Given the description of an element on the screen output the (x, y) to click on. 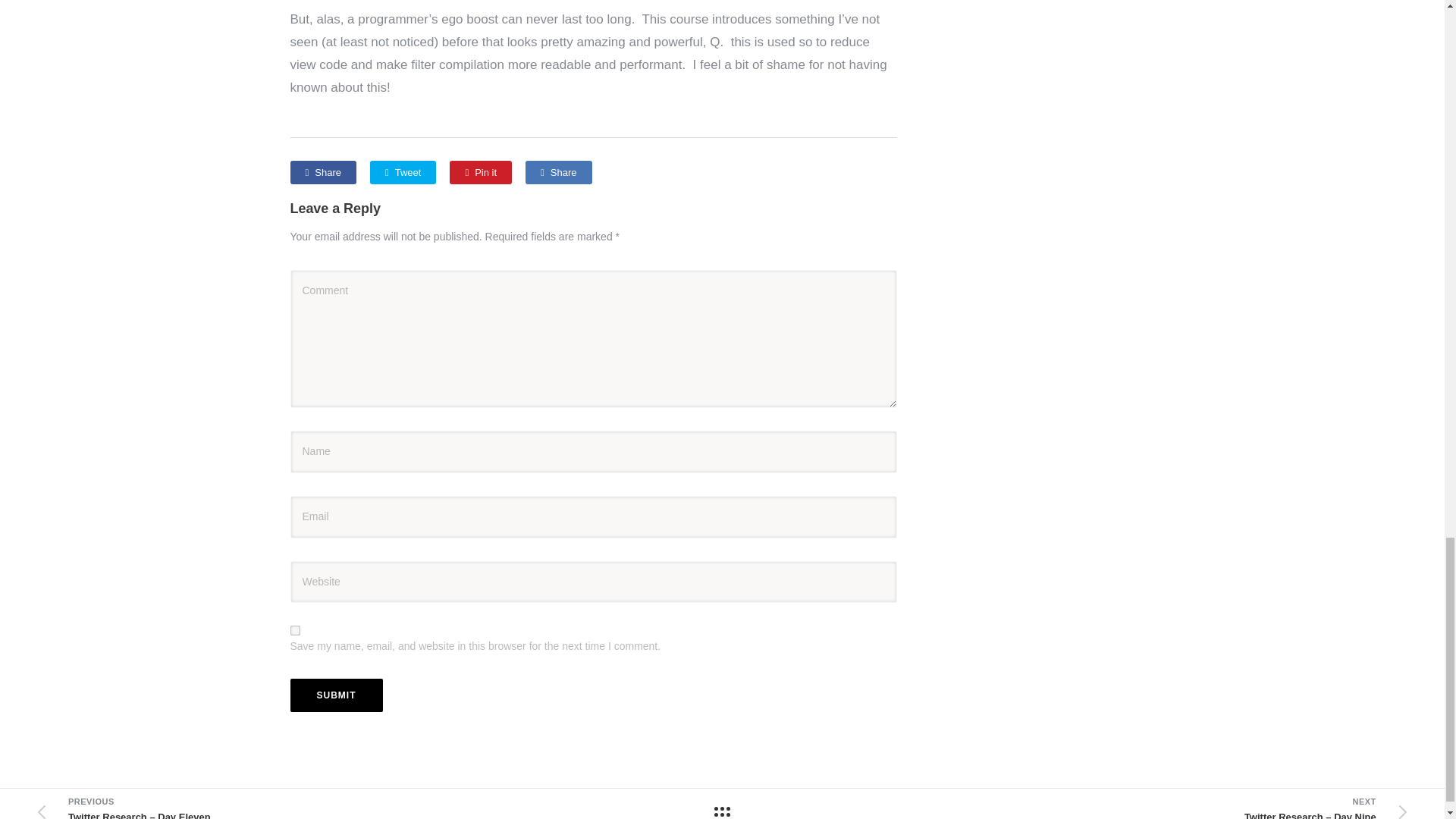
Submit (335, 694)
Share (322, 172)
Share (558, 172)
Submit (335, 694)
Pin it (480, 172)
yes (294, 630)
Tweet (402, 172)
